Given the description of an element on the screen output the (x, y) to click on. 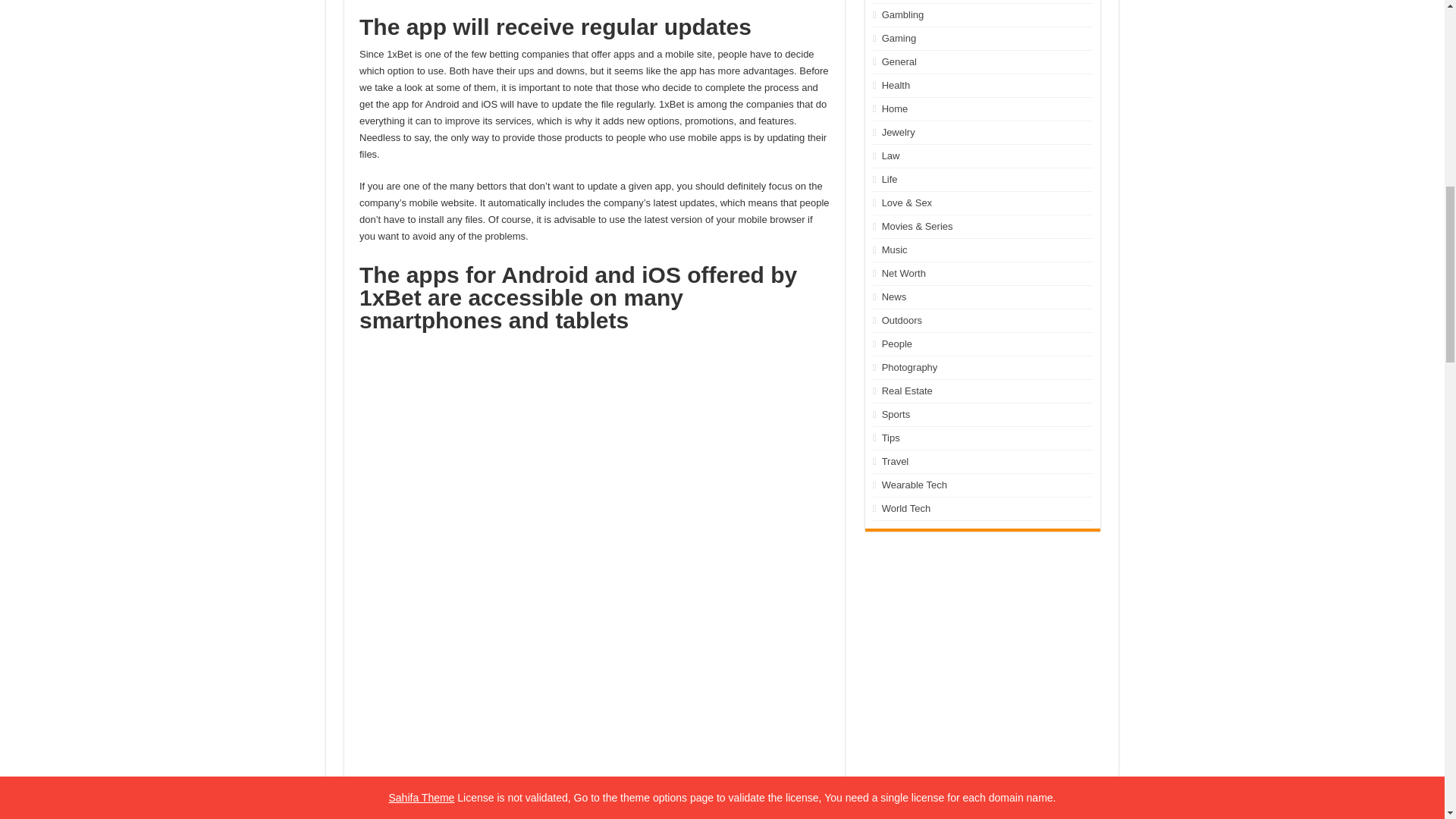
Scroll To Top (1421, 60)
